Given the description of an element on the screen output the (x, y) to click on. 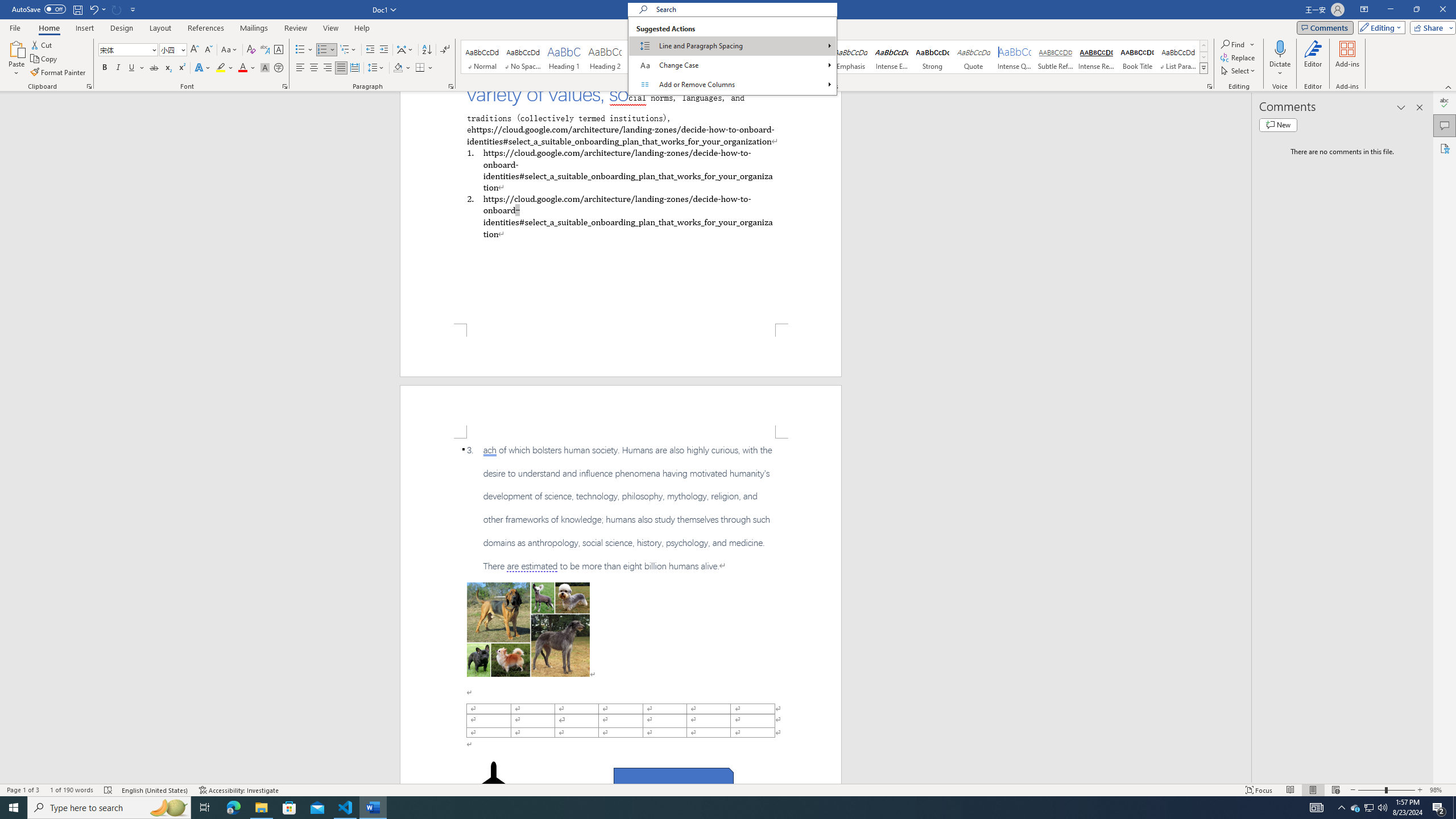
Subtitle (768, 56)
Text Effects and Typography (202, 67)
Phonetic Guide... (264, 49)
Page 2 content (620, 610)
Save (77, 9)
Header -Section 1- (620, 411)
Align Left (300, 67)
Cut (42, 44)
Design (122, 28)
Close (1442, 9)
Bullets (300, 49)
3. (620, 507)
Editor (1312, 58)
Minimize (1390, 9)
Underline (136, 67)
